Given the description of an element on the screen output the (x, y) to click on. 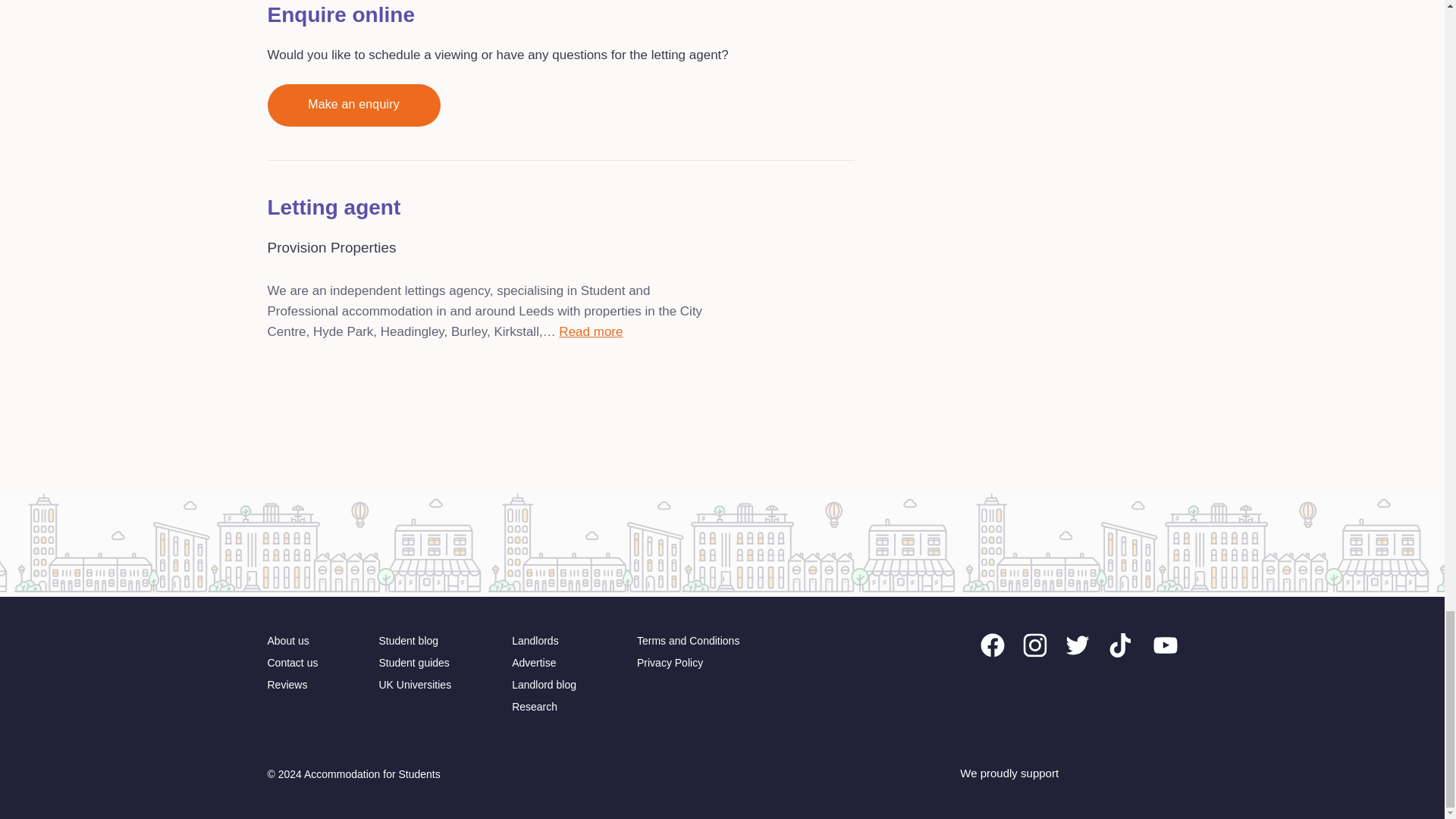
Read more (591, 331)
Student guides (413, 662)
About us (287, 641)
Make an enquiry (352, 105)
Contact us (291, 662)
Reviews (286, 684)
Student blog (408, 641)
Landlords (535, 641)
UK Universities (414, 684)
